Given the description of an element on the screen output the (x, y) to click on. 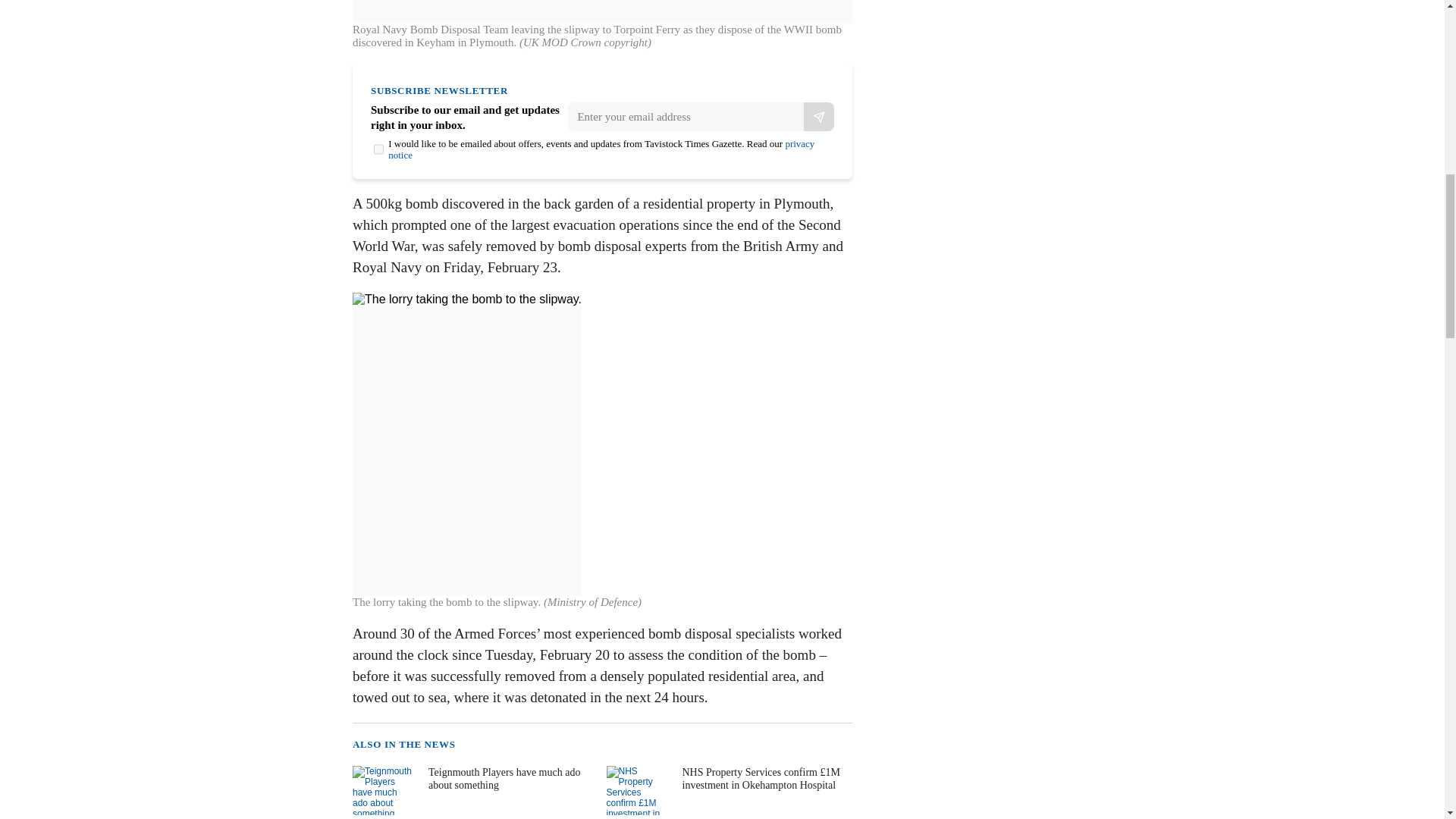
privacy notice (600, 149)
Teignmouth Players have much ado about something (473, 789)
